Given the description of an element on the screen output the (x, y) to click on. 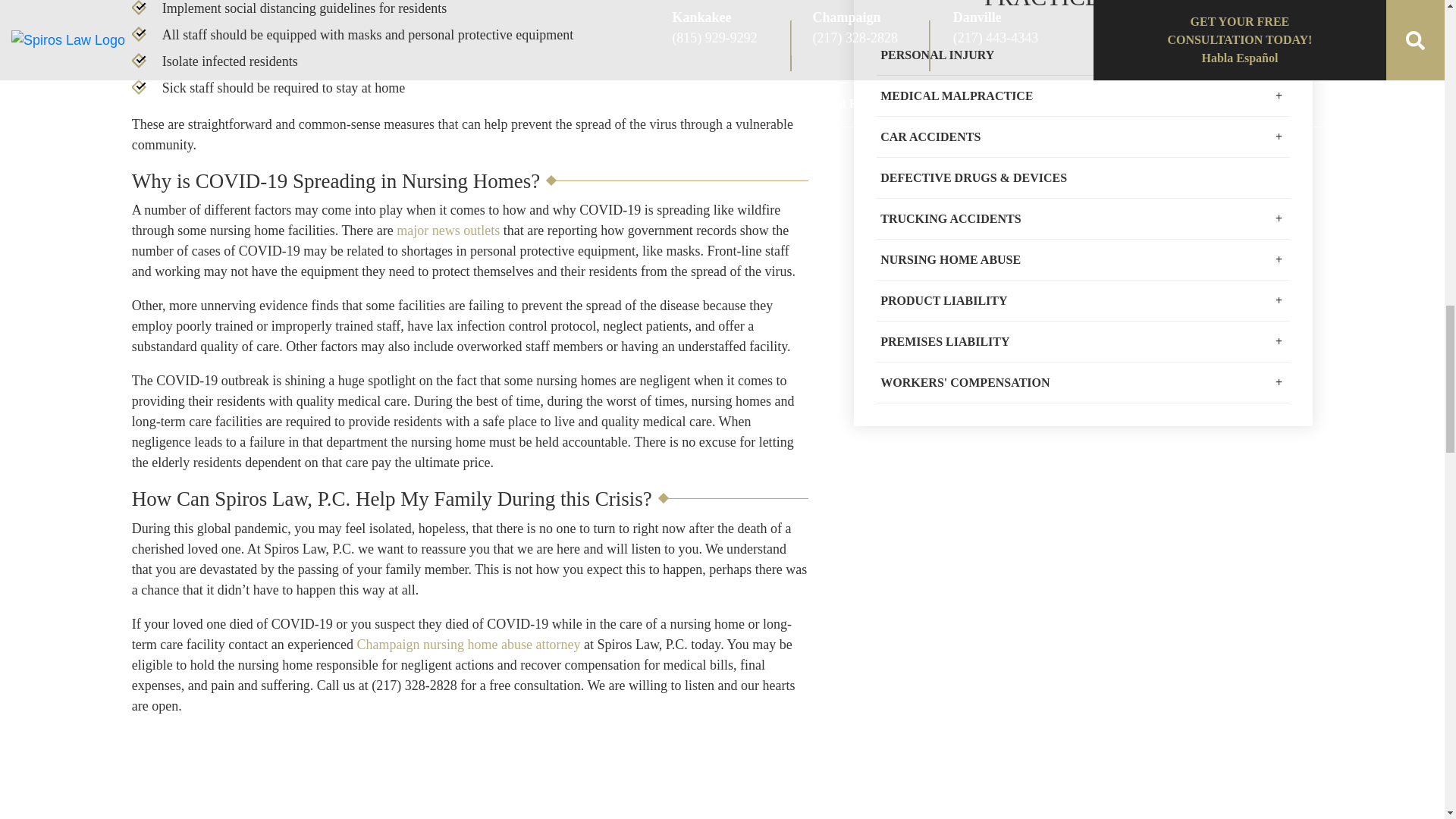
Champaign nursing home abuse attorney (468, 644)
major news outlets (447, 230)
